Given the description of an element on the screen output the (x, y) to click on. 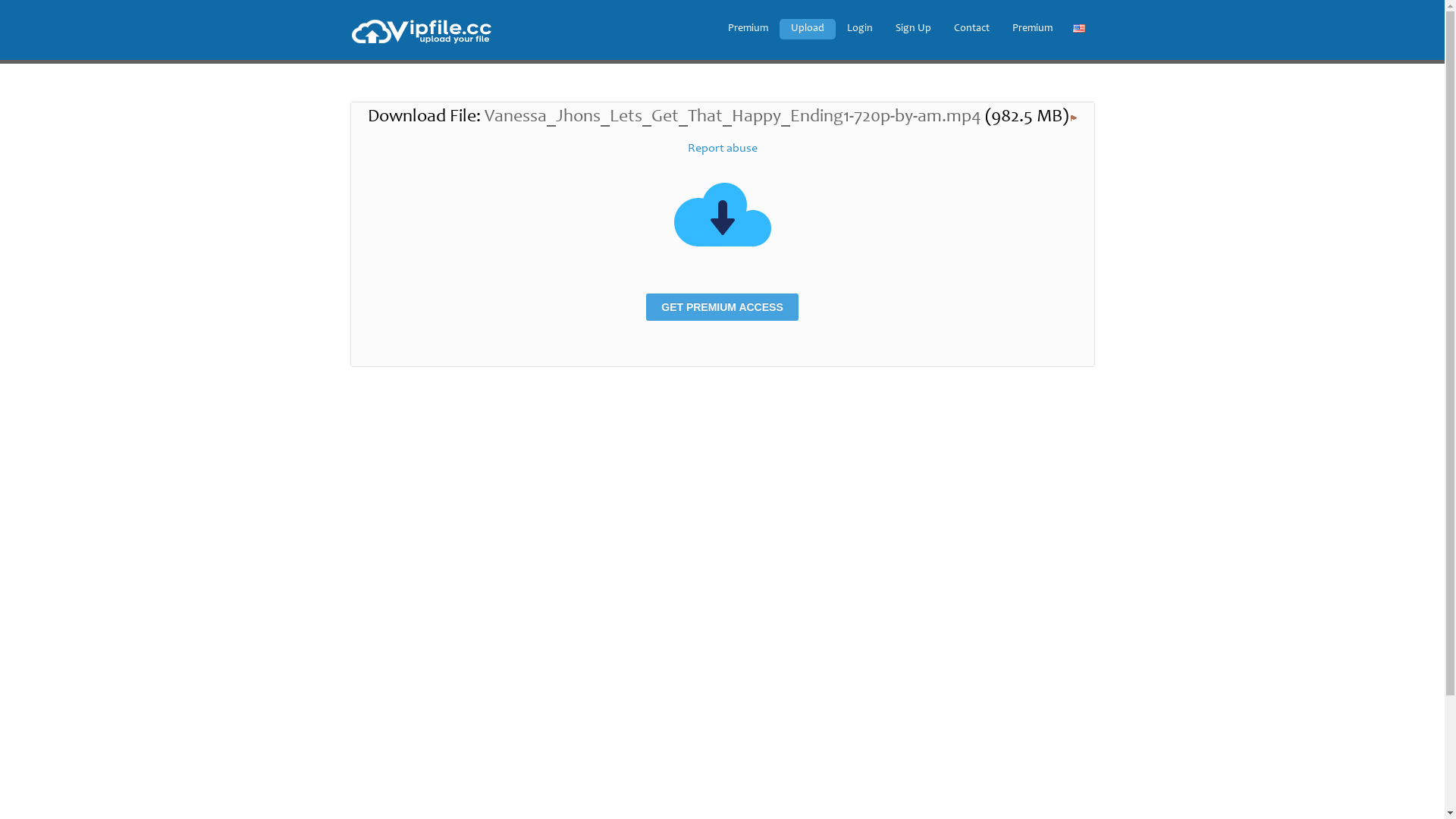
Upload Element type: text (807, 28)
Sign Up Element type: text (913, 28)
Login Element type: text (859, 28)
Premium Element type: text (750, 28)
Premium Element type: text (1032, 28)
GET PREMIUM ACCESS Element type: text (722, 306)
Contact Element type: text (970, 28)
Report abuse Element type: text (721, 148)
